Given the description of an element on the screen output the (x, y) to click on. 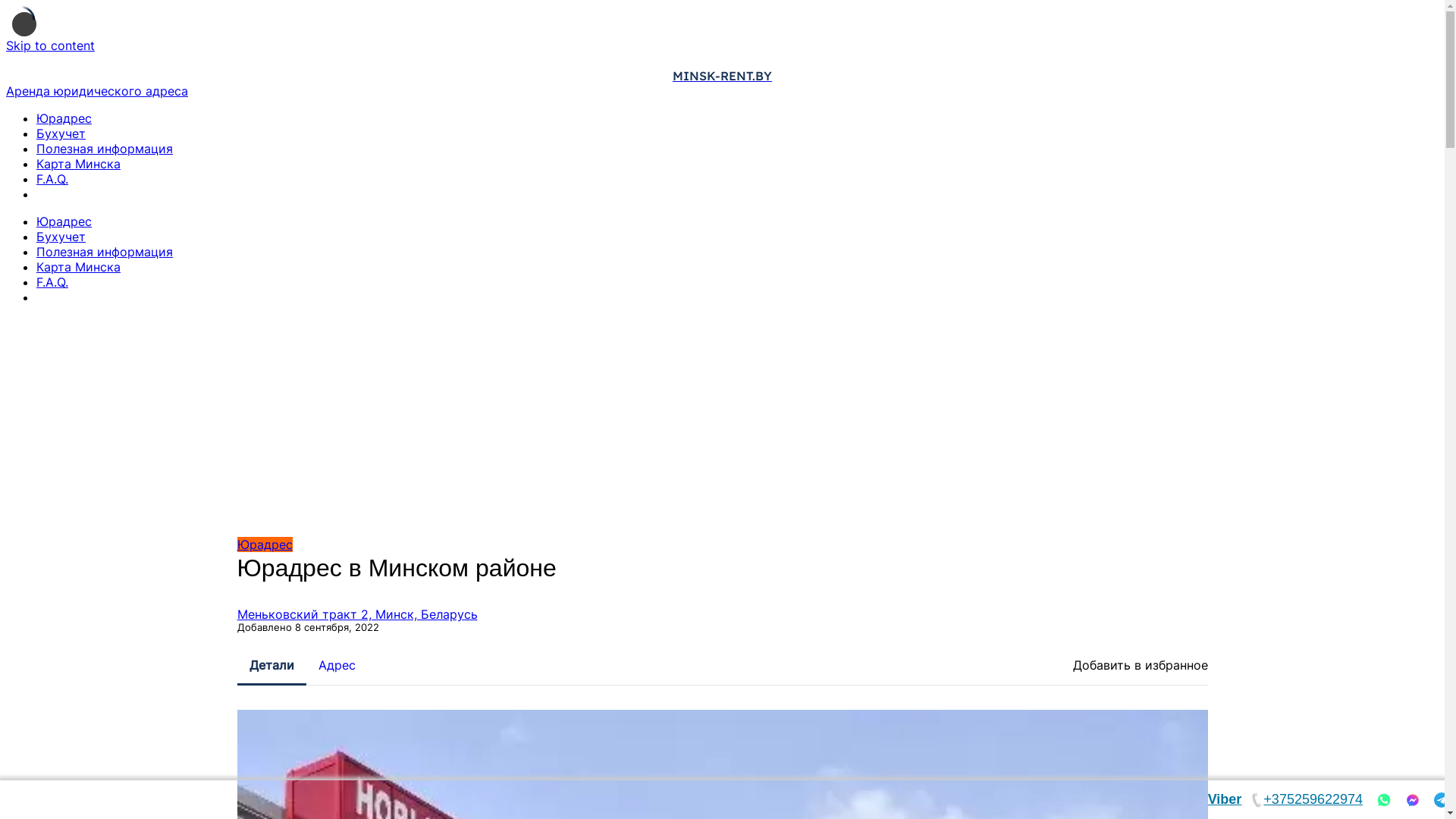
Viber Element type: text (1225, 798)
F.A.Q. Element type: text (52, 281)
F.A.Q. Element type: text (52, 178)
Advertisement Element type: hover (721, 422)
+375259622974 Element type: text (1305, 798)
Skip to content Element type: text (50, 45)
